Given the description of an element on the screen output the (x, y) to click on. 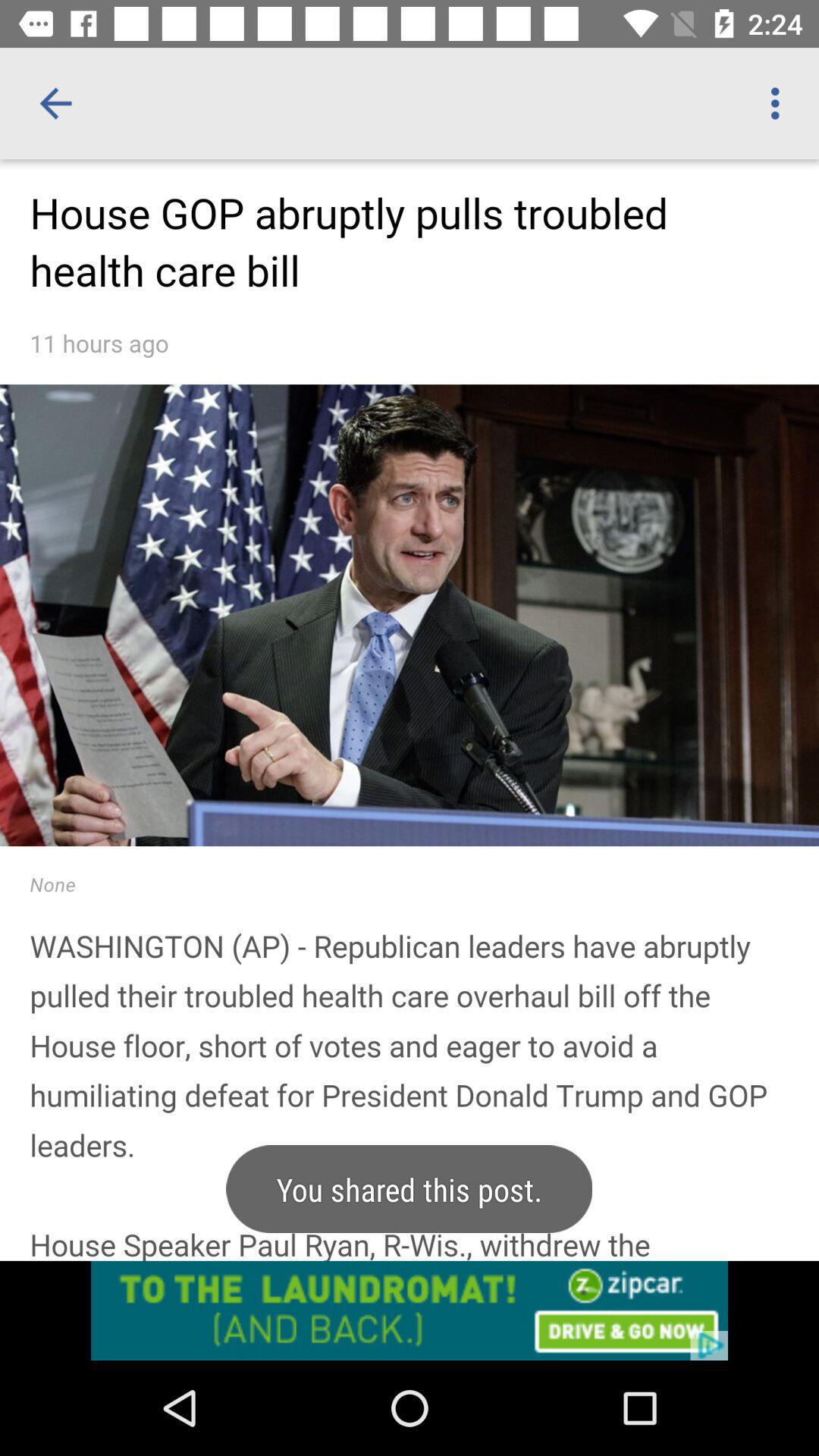
know about the advertisement (409, 1310)
